Given the description of an element on the screen output the (x, y) to click on. 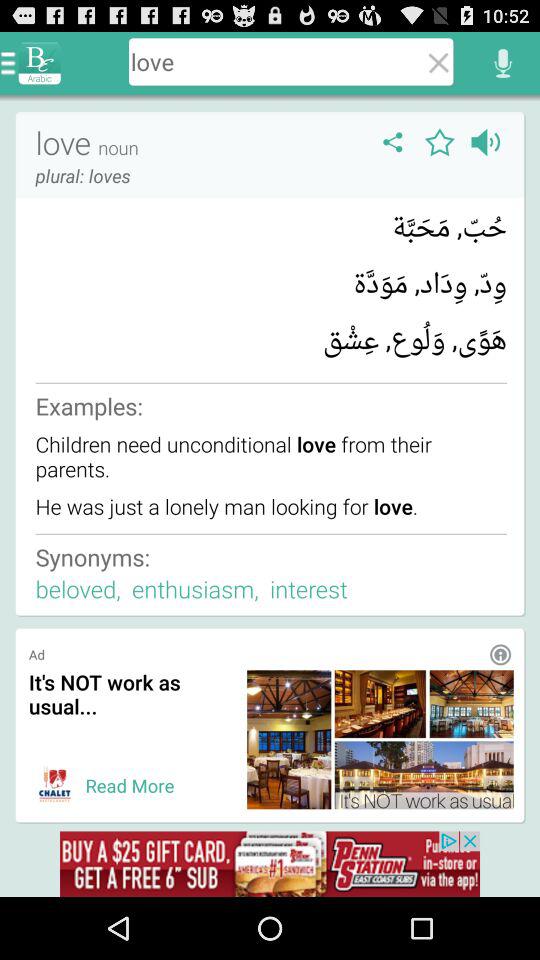
open advertisement (270, 864)
